Given the description of an element on the screen output the (x, y) to click on. 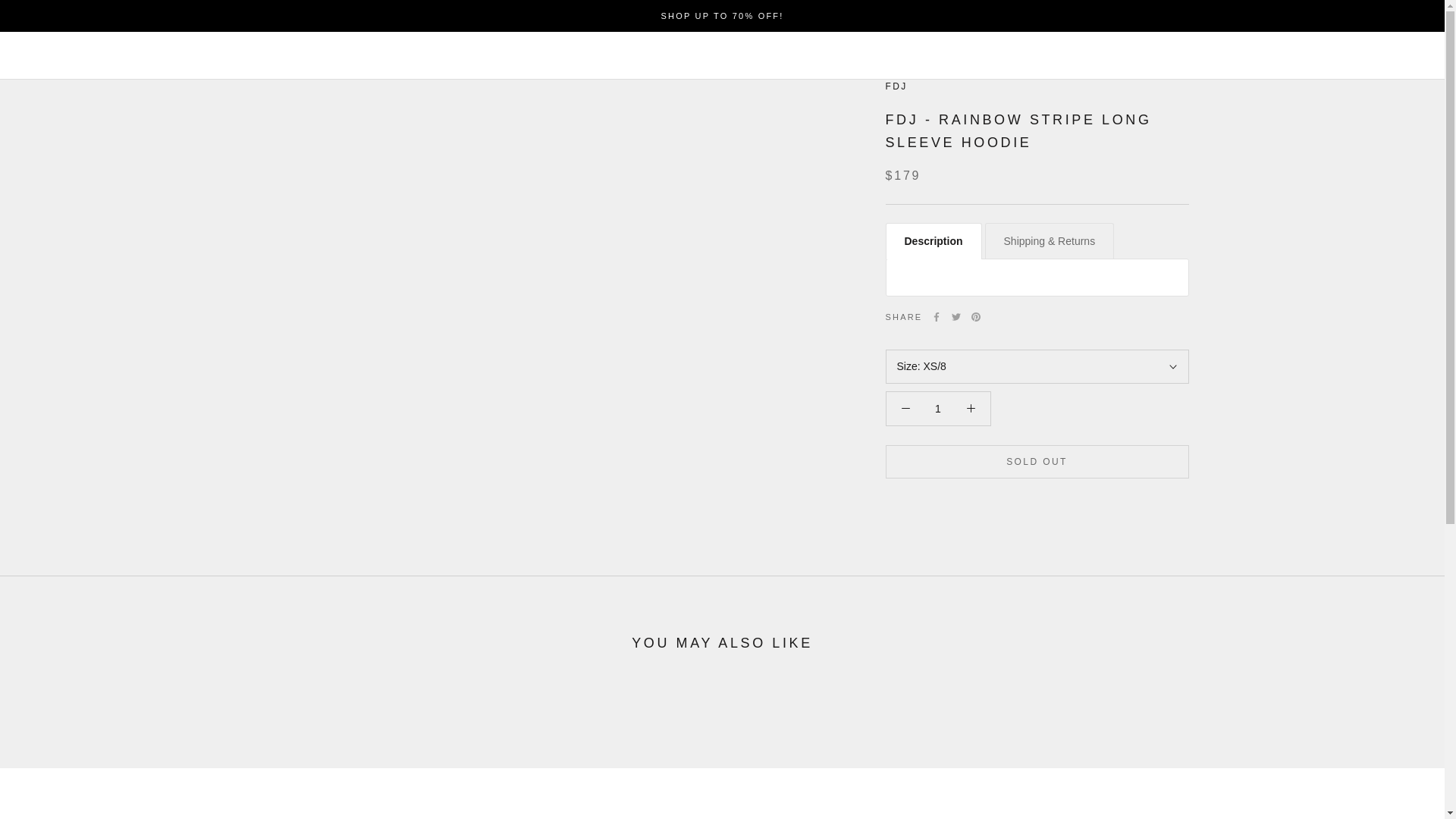
1 (938, 408)
